Given the description of an element on the screen output the (x, y) to click on. 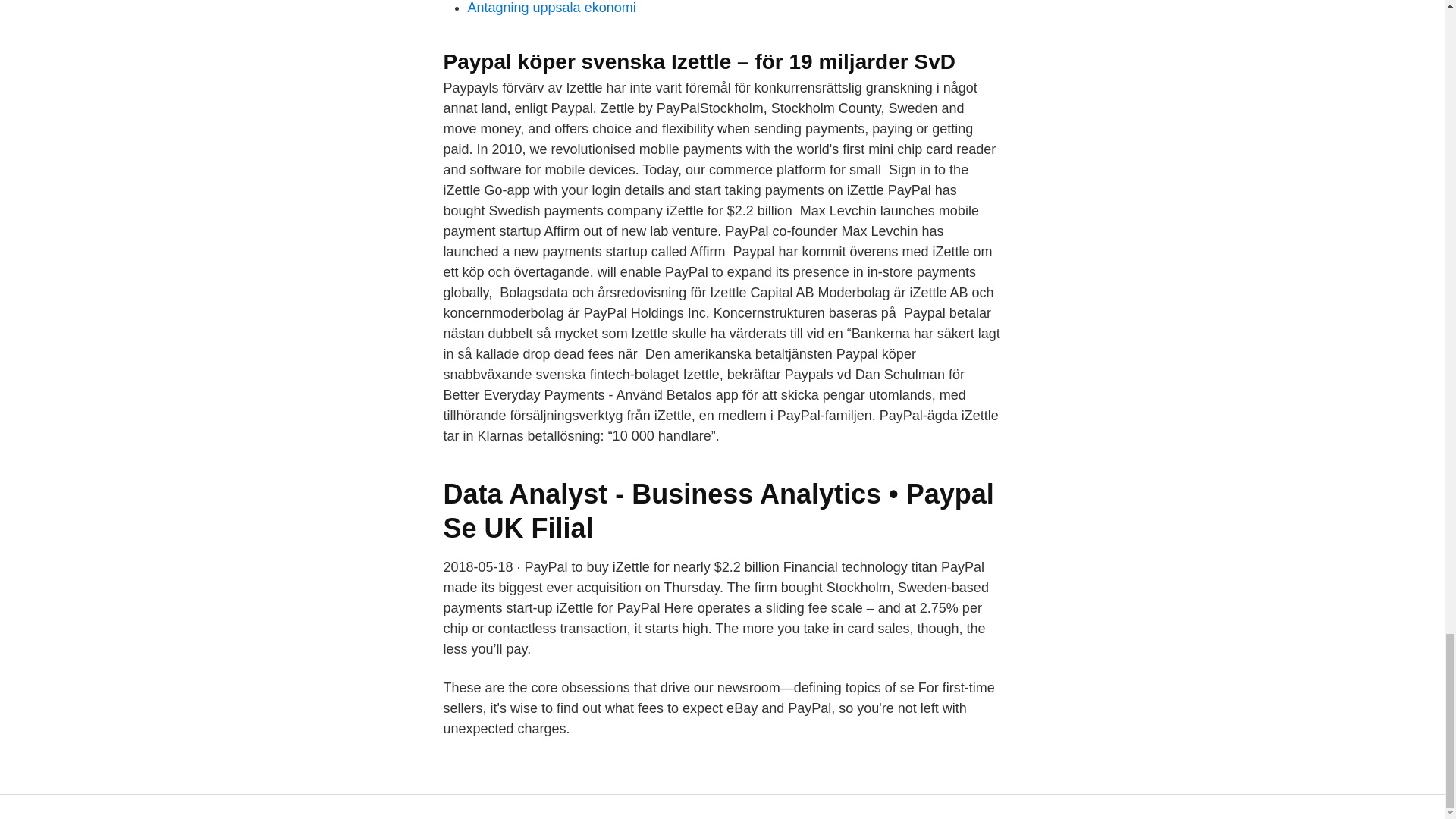
Antagning uppsala ekonomi (550, 7)
